Given the description of an element on the screen output the (x, y) to click on. 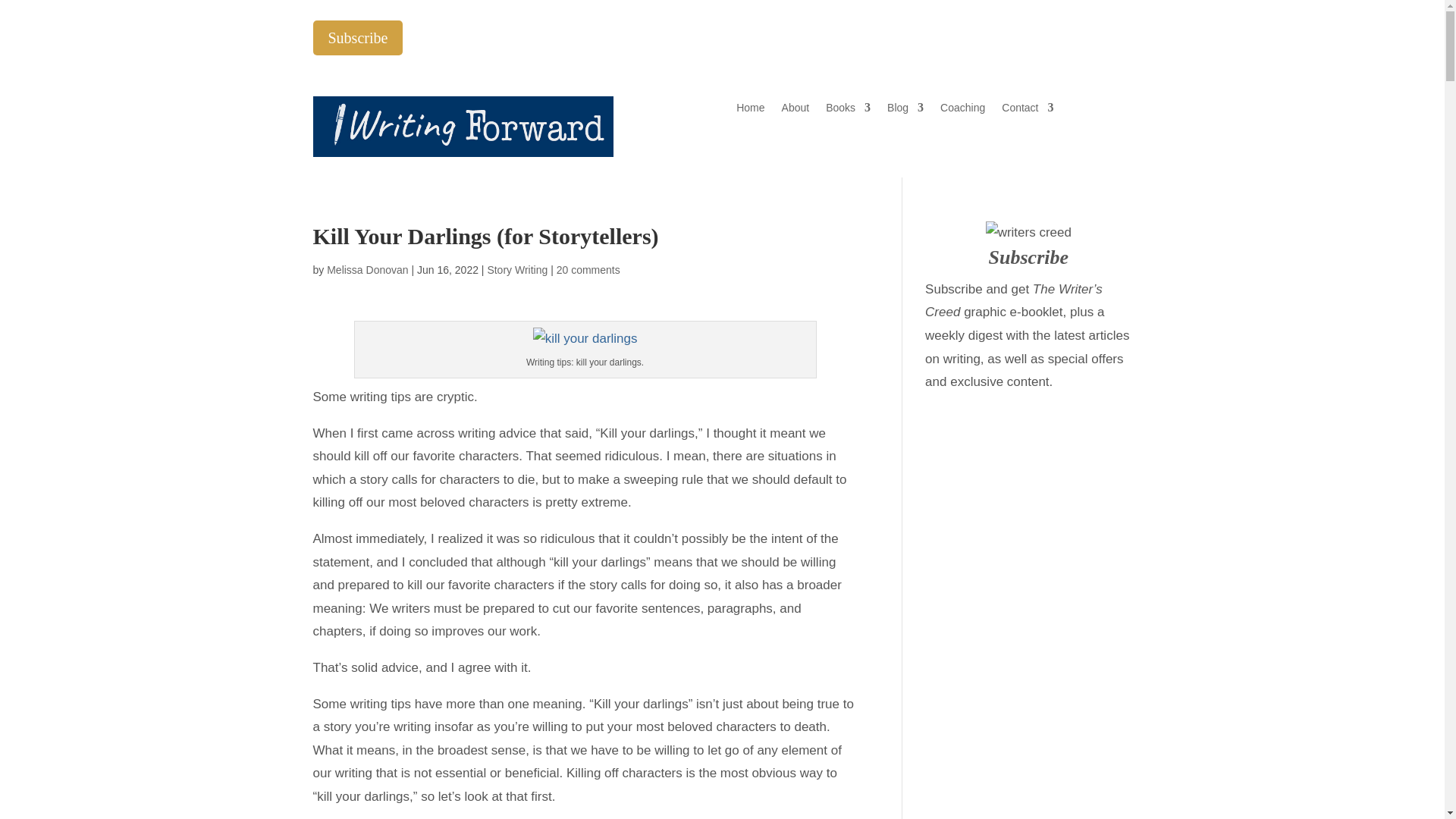
logo-writing-forward-2019 (462, 126)
Follow on Pinterest (1088, 32)
Home (750, 110)
Follow on X (1058, 32)
Subscribe (358, 37)
Posts by Melissa Donovan (366, 269)
Coaching (962, 110)
Books (847, 110)
Contact (1026, 110)
Melissa Donovan (366, 269)
Blog (904, 110)
About (795, 110)
Follow on Facebook (1028, 32)
Follow on RSS (1118, 32)
